Given the description of an element on the screen output the (x, y) to click on. 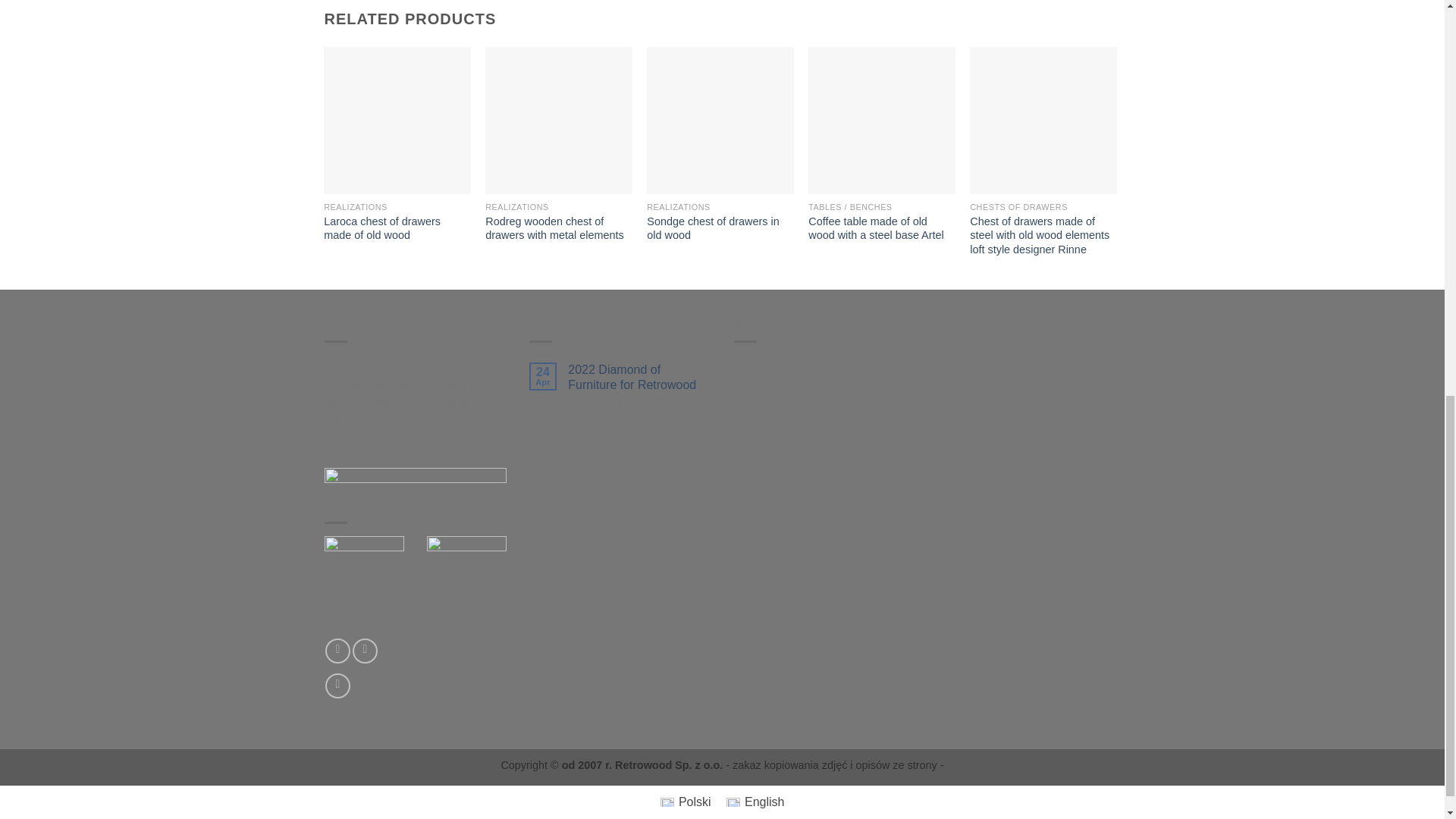
Send us an email (337, 685)
Follow on Instagram (364, 650)
Follow on Facebook (337, 650)
